Given the description of an element on the screen output the (x, y) to click on. 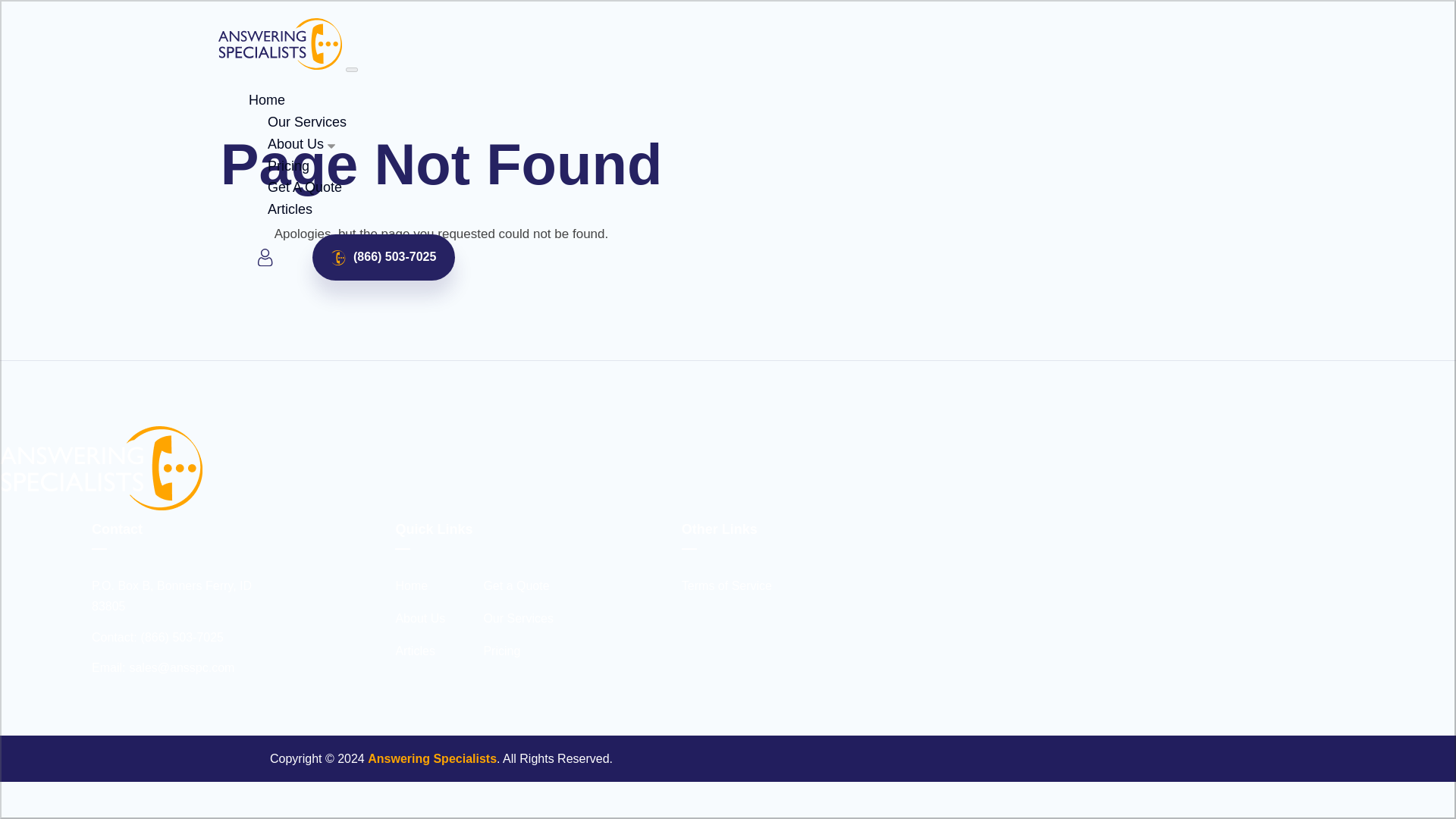
Get A Quote (304, 186)
About Us (419, 618)
Our Services (518, 618)
Our Services (306, 121)
About Us (295, 143)
Articles (413, 650)
Pricing (287, 165)
Home (411, 585)
Terms of Service (726, 585)
Pricing (501, 650)
Answering Specialists (432, 758)
Home (266, 99)
Articles (290, 209)
Get a Quote (515, 585)
